Given the description of an element on the screen output the (x, y) to click on. 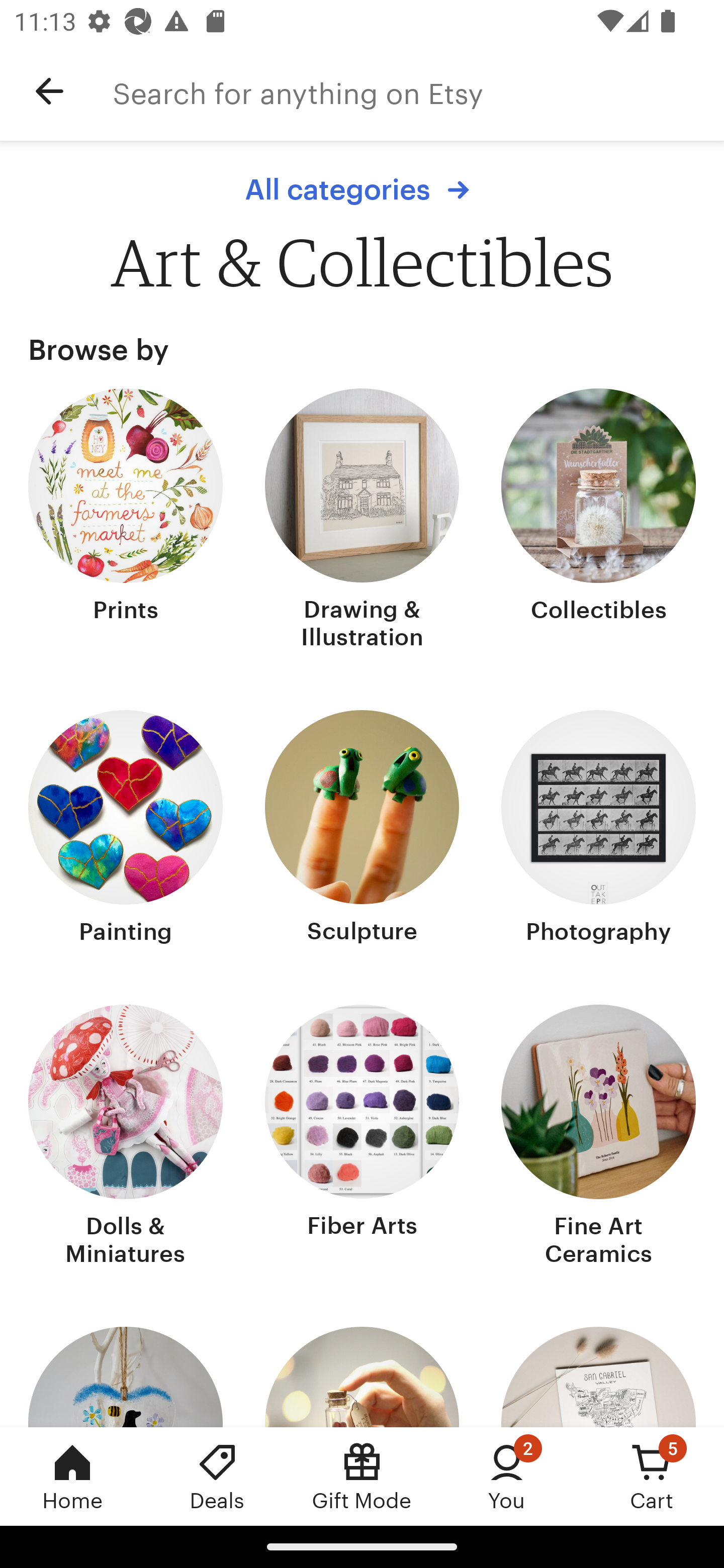
Navigate up (49, 91)
Search for anything on Etsy (418, 91)
All categories (361, 189)
Prints (125, 520)
Drawing & Illustration (361, 520)
Collectibles (598, 520)
Painting (125, 829)
Sculpture (361, 829)
Photography (598, 829)
Dolls & Miniatures (125, 1137)
Fiber Arts (361, 1137)
Fine Art Ceramics (598, 1137)
Deals (216, 1475)
Gift Mode (361, 1475)
You, 2 new notifications You (506, 1475)
Cart, 5 new notifications Cart (651, 1475)
